Given the description of an element on the screen output the (x, y) to click on. 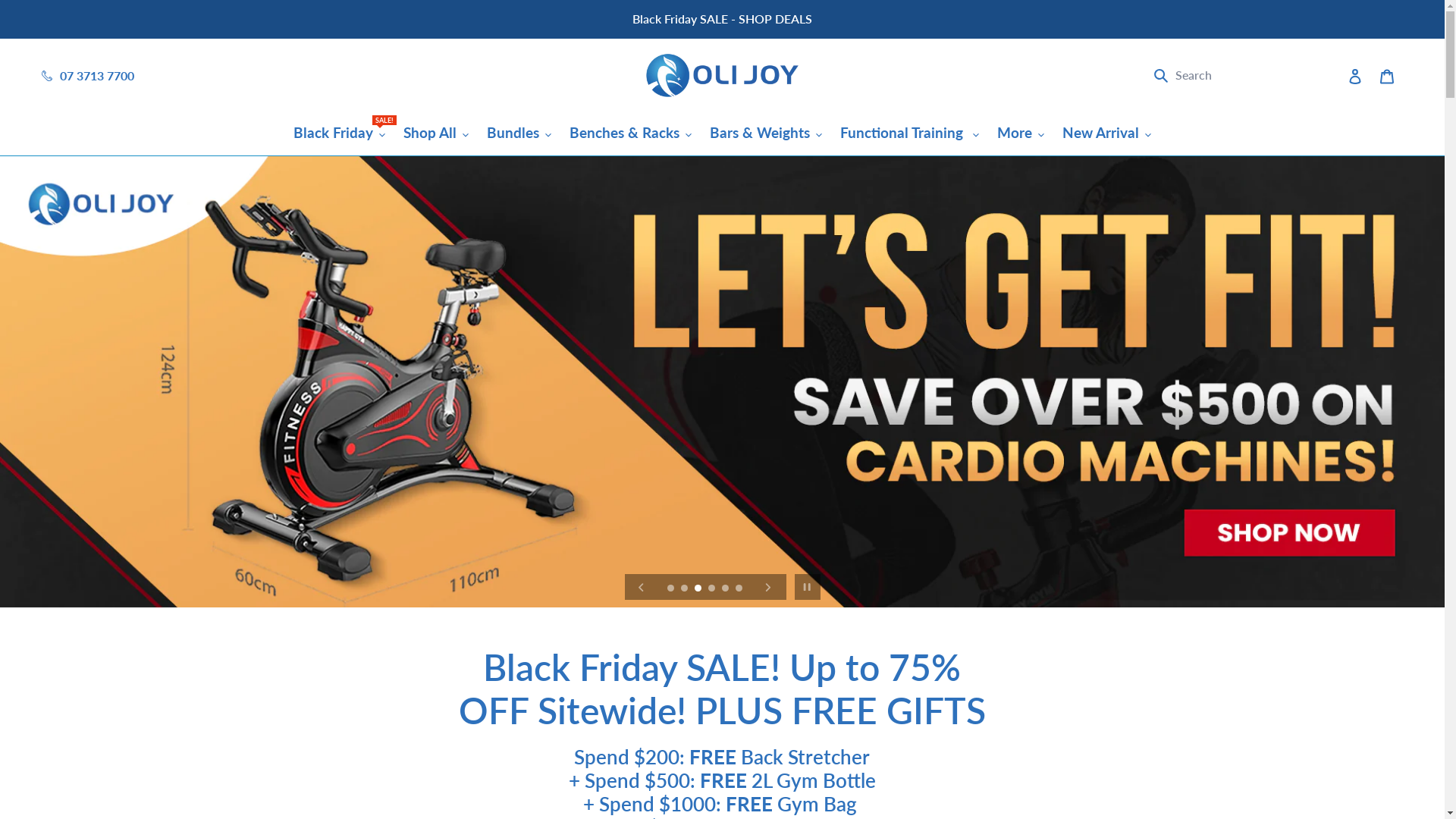
Bundles Element type: text (518, 132)
Pause slideshow Element type: text (806, 586)
Bars & Weights Element type: text (765, 132)
More Element type: text (1020, 132)
Log in Element type: text (1355, 74)
New Arrival Element type: text (1106, 132)
Cart Element type: text (1386, 74)
Black Friday SALE - SHOP DEALS Element type: text (722, 18)
Functional Training Element type: text (909, 132)
Black Friday
SALE! Element type: text (338, 132)
Shop All Element type: text (435, 132)
07 3713 7700 Element type: text (96, 75)
Benches & Racks Element type: text (630, 132)
